Given the description of an element on the screen output the (x, y) to click on. 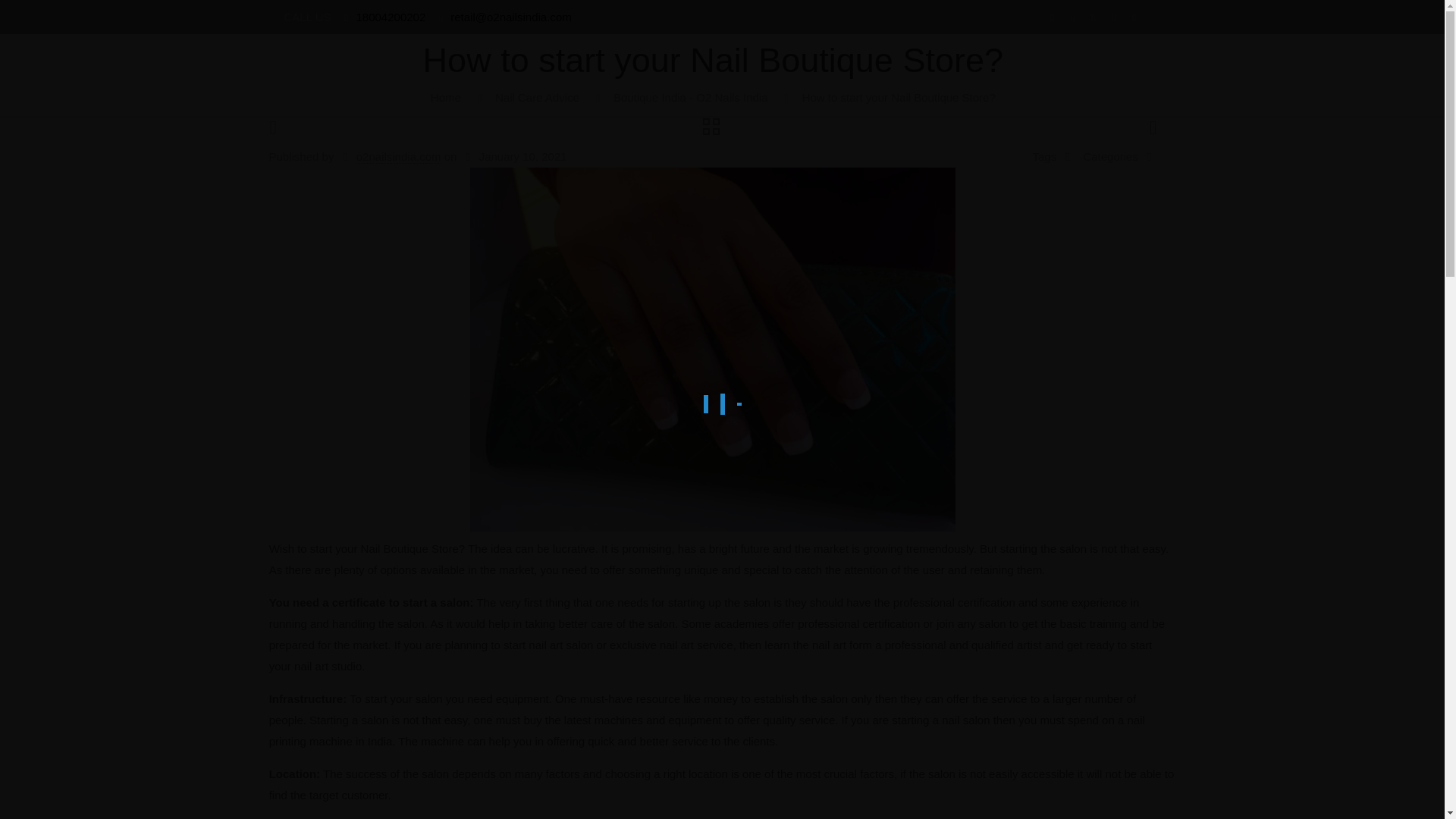
Pinterest (1114, 16)
Facebook (1073, 16)
WhatsApp (1053, 16)
18004200202 (390, 16)
LinkedIn (1094, 16)
Instagram (1134, 16)
